Given the description of an element on the screen output the (x, y) to click on. 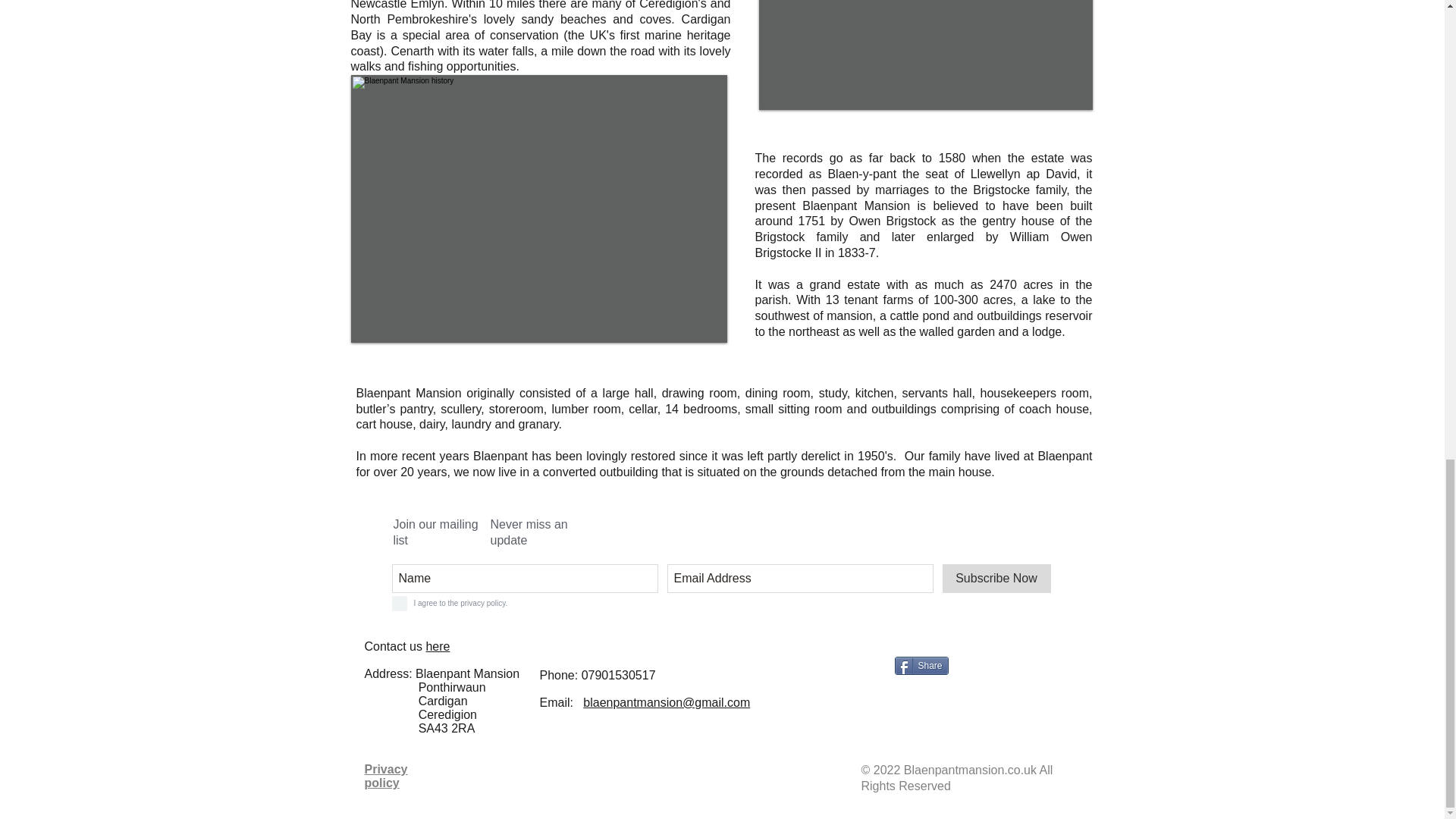
Twitter Tweet (981, 667)
Share (922, 665)
Share (922, 665)
No Frame (925, 54)
Blaenpant frontage treethings larger.jpg (538, 209)
Subscribe Now (995, 578)
Privacy policy (385, 775)
Facebook Like (863, 659)
here (437, 645)
